Given the description of an element on the screen output the (x, y) to click on. 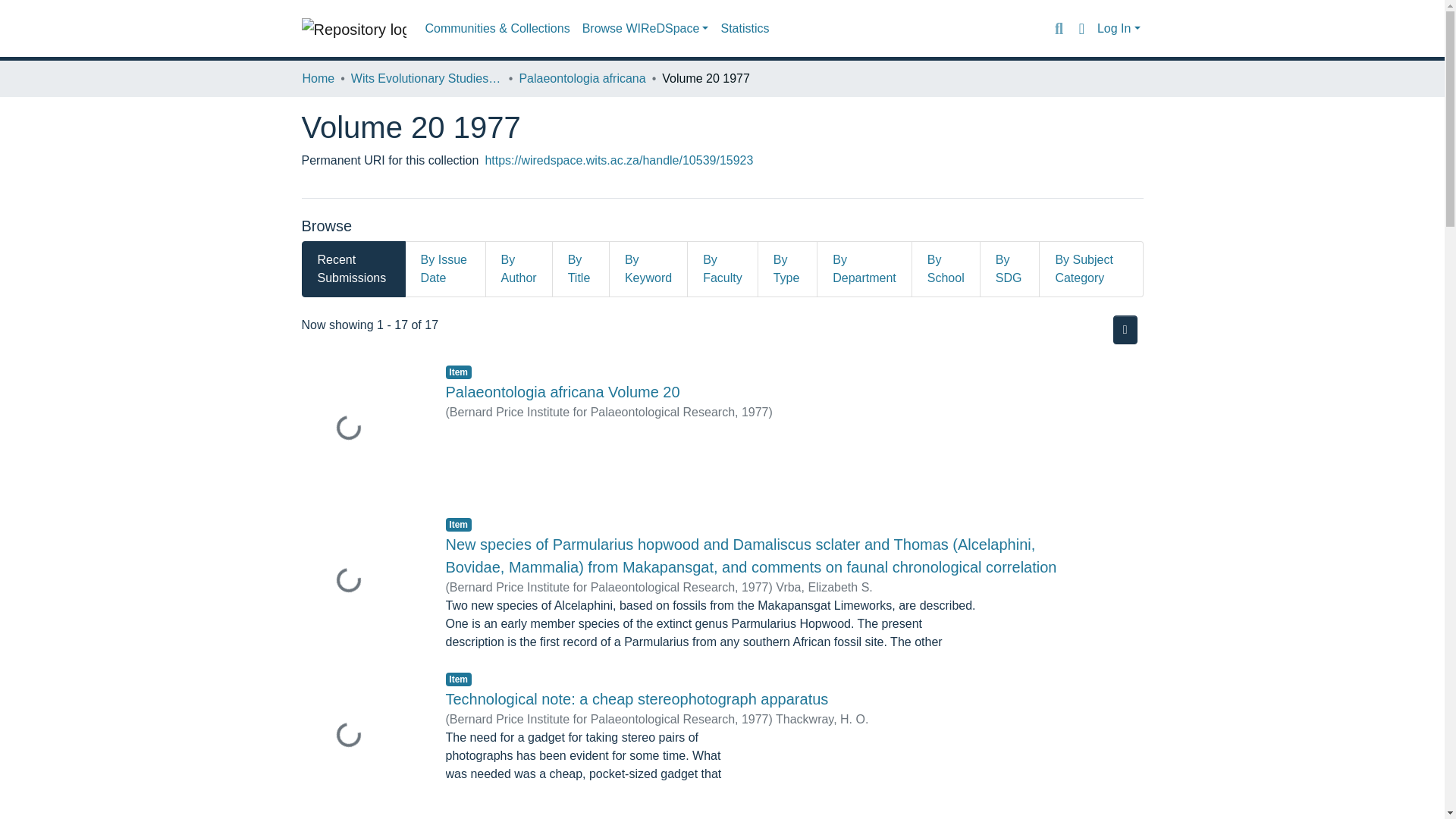
Statistics (744, 28)
By SDG (1010, 268)
By Subject Category (1090, 268)
Home (317, 78)
Language switch (1081, 28)
Browse WIReDSpace (645, 28)
Loading... (362, 582)
Palaeontologia africana Volume 20 (562, 392)
By School (945, 268)
Log In (1118, 28)
